Given the description of an element on the screen output the (x, y) to click on. 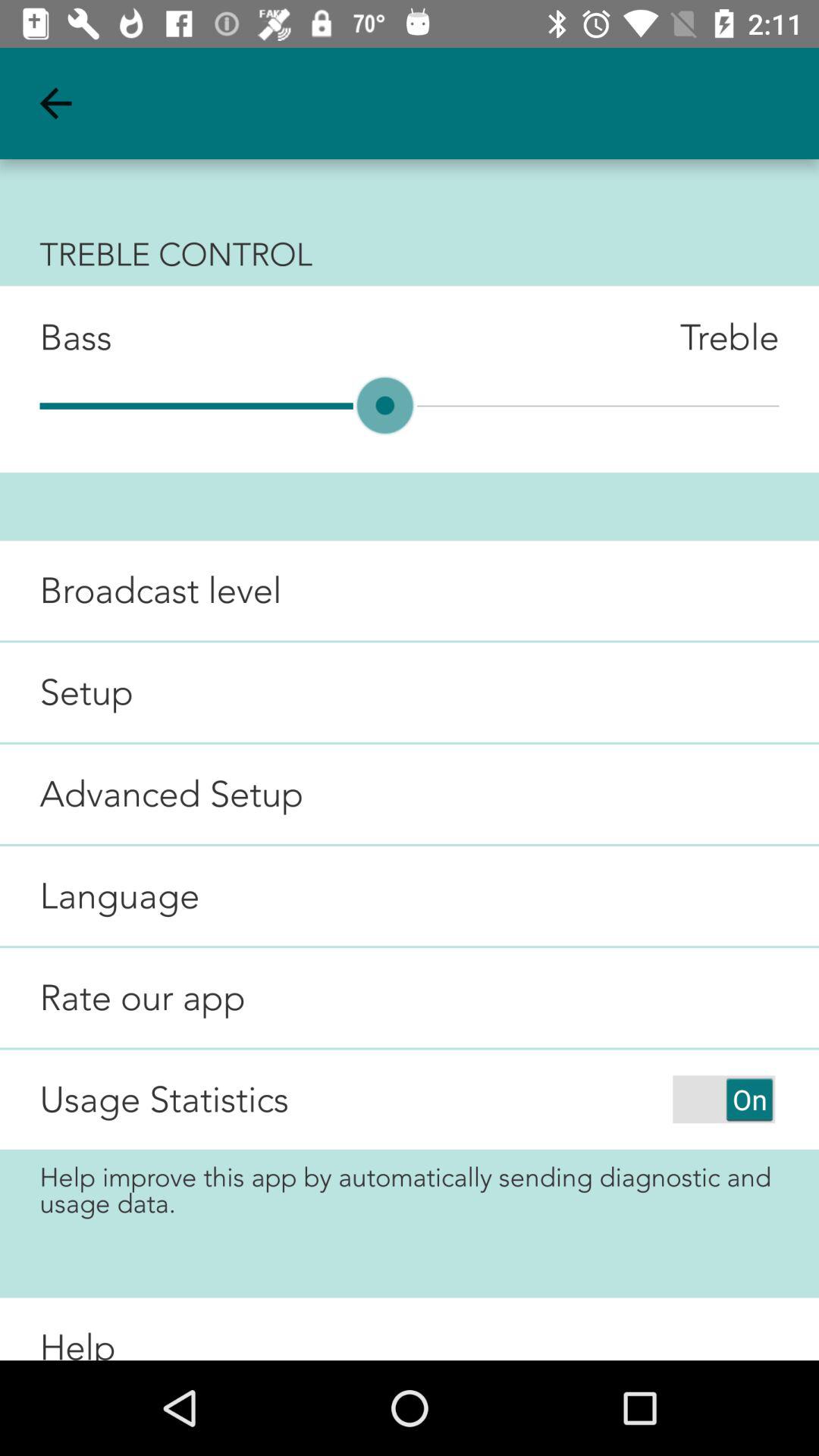
swipe until usage statistics (163, 1099)
